Given the description of an element on the screen output the (x, y) to click on. 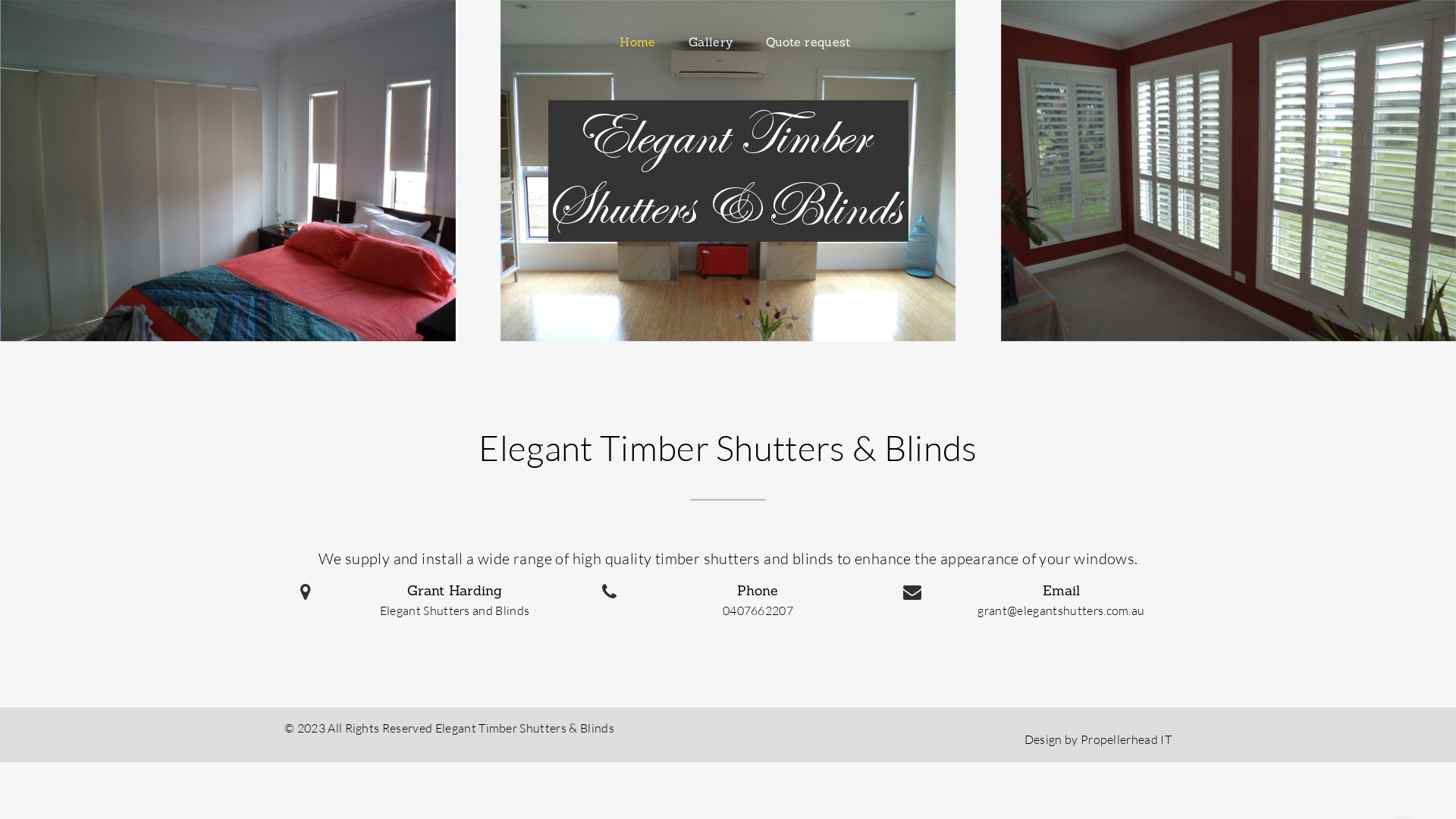
0407662207 Element type: text (757, 610)
Home Element type: text (637, 41)
Gallery Element type: text (710, 41)
Propellerhead IT Element type: text (1125, 738)
Quote request Element type: text (807, 41)
grant@elegantshutters.com.au Element type: text (1060, 610)
Elegant Timber Shutters & Blinds Element type: text (524, 727)
